Given the description of an element on the screen output the (x, y) to click on. 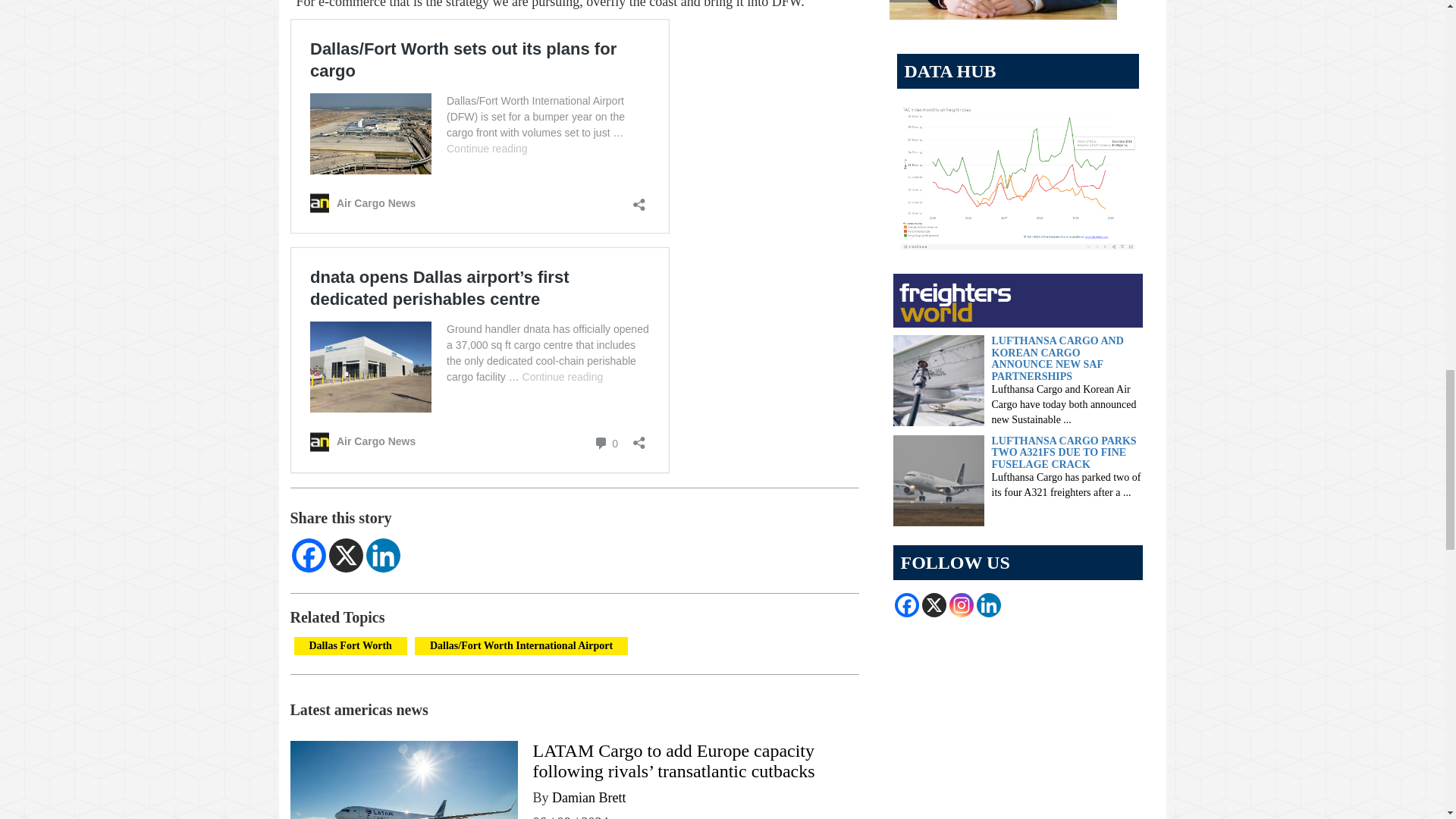
Linkedin (381, 555)
X (345, 555)
Facebook (307, 555)
